Given the description of an element on the screen output the (x, y) to click on. 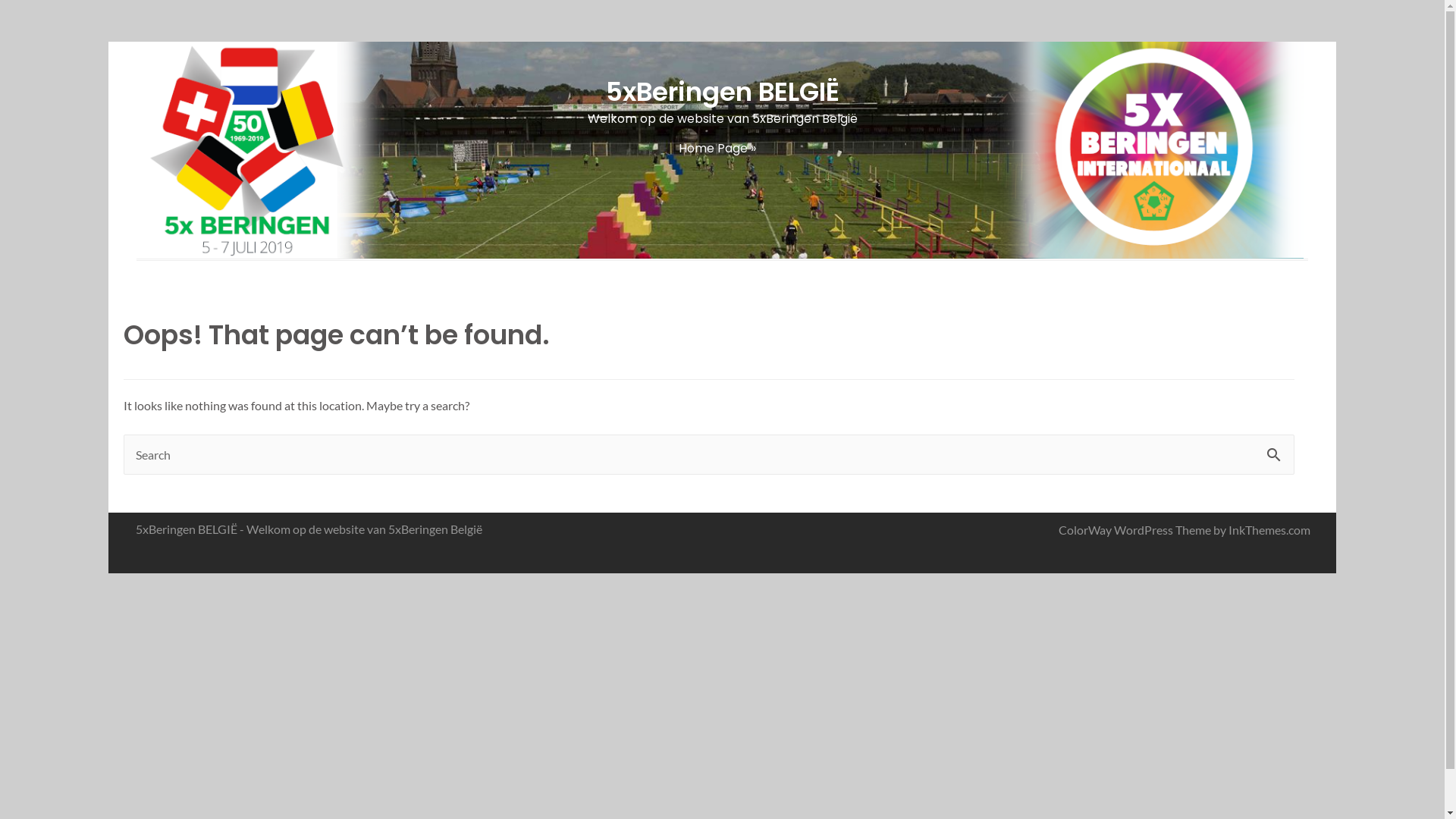
Search Element type: text (1277, 449)
ColorWay WordPress Theme by InkThemes.com Element type: text (1184, 529)
